Given the description of an element on the screen output the (x, y) to click on. 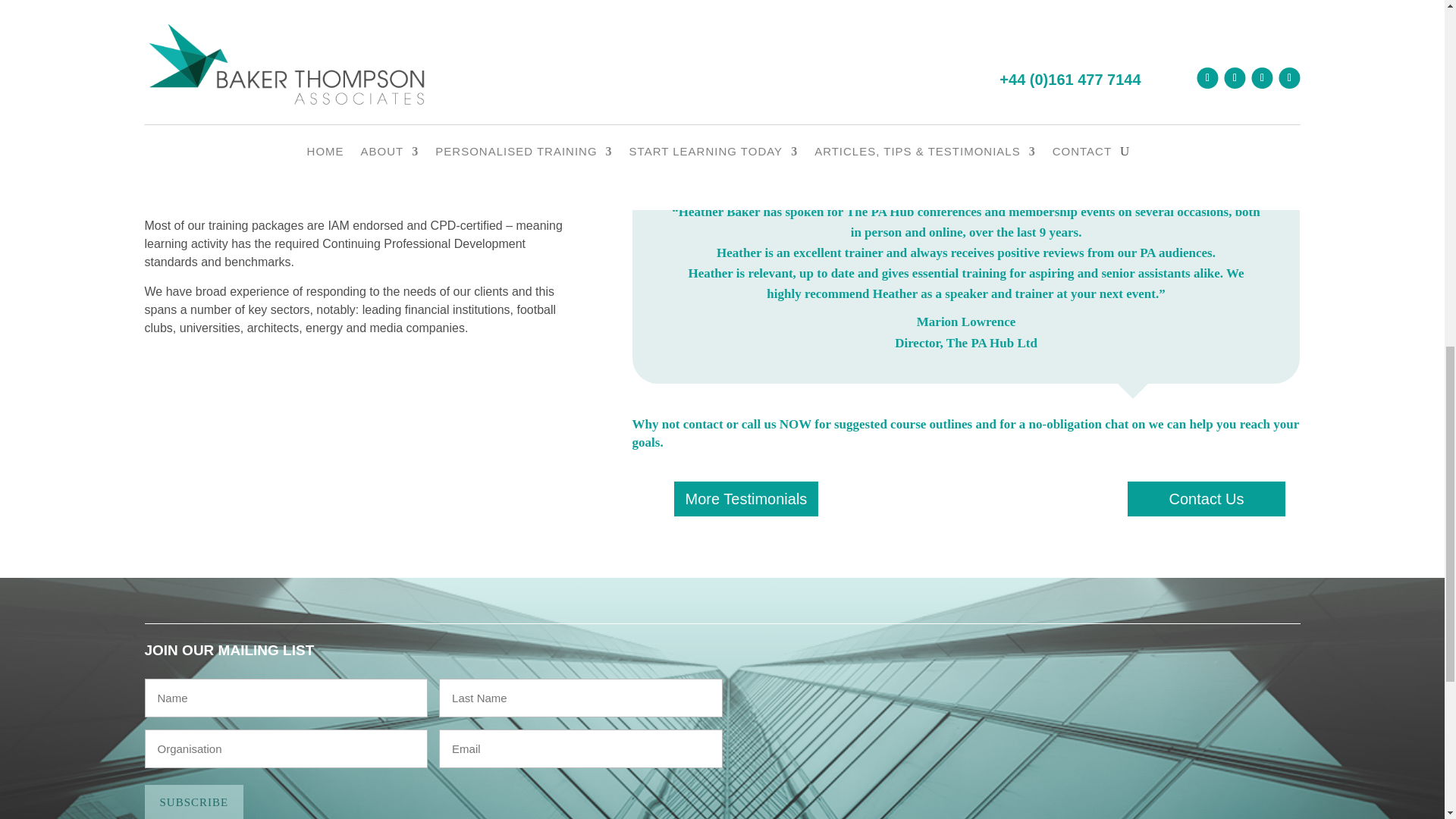
Subscribe (193, 801)
